Given the description of an element on the screen output the (x, y) to click on. 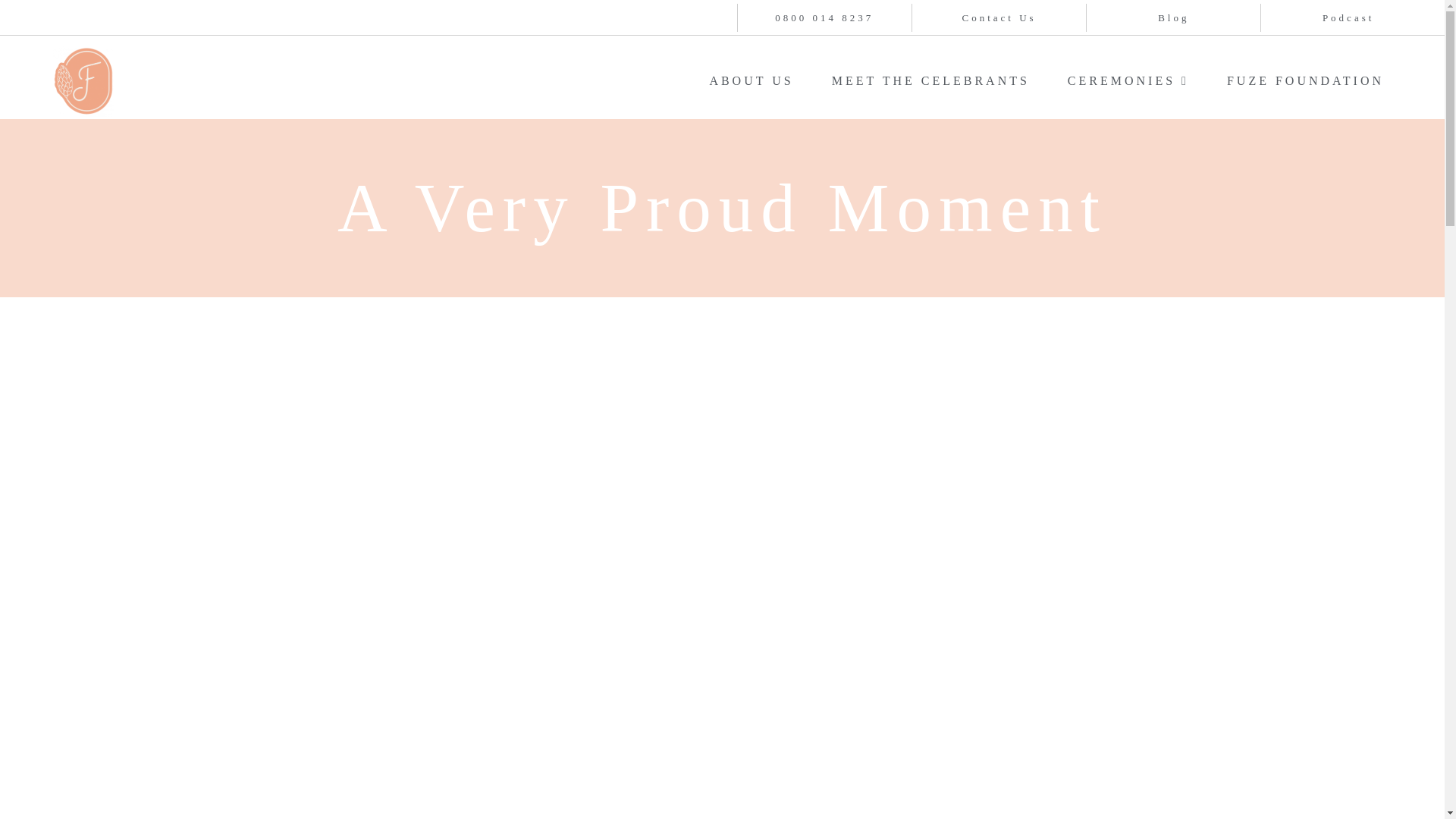
FUZE FOUNDATION (1305, 80)
ABOUT US (751, 80)
CEREMONIES (1128, 80)
Blog (1173, 17)
0800 014 8237 (824, 17)
Contact Us (998, 17)
MEET THE CELEBRANTS (930, 80)
Podcast (1348, 17)
